Given the description of an element on the screen output the (x, y) to click on. 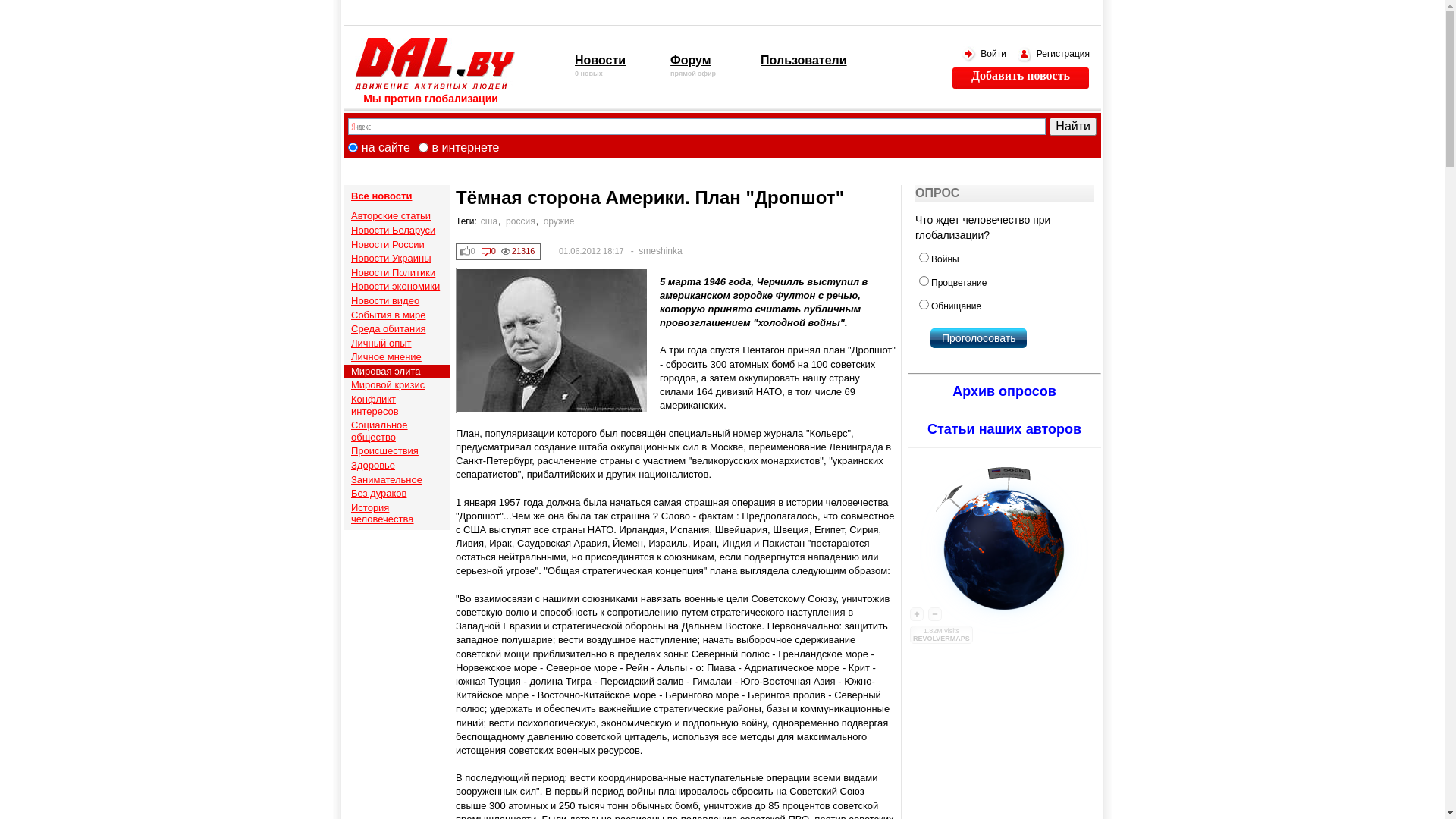
0 Element type: text (488, 251)
21316 Element type: text (518, 251)
0 Element type: text (468, 251)
